Given the description of an element on the screen output the (x, y) to click on. 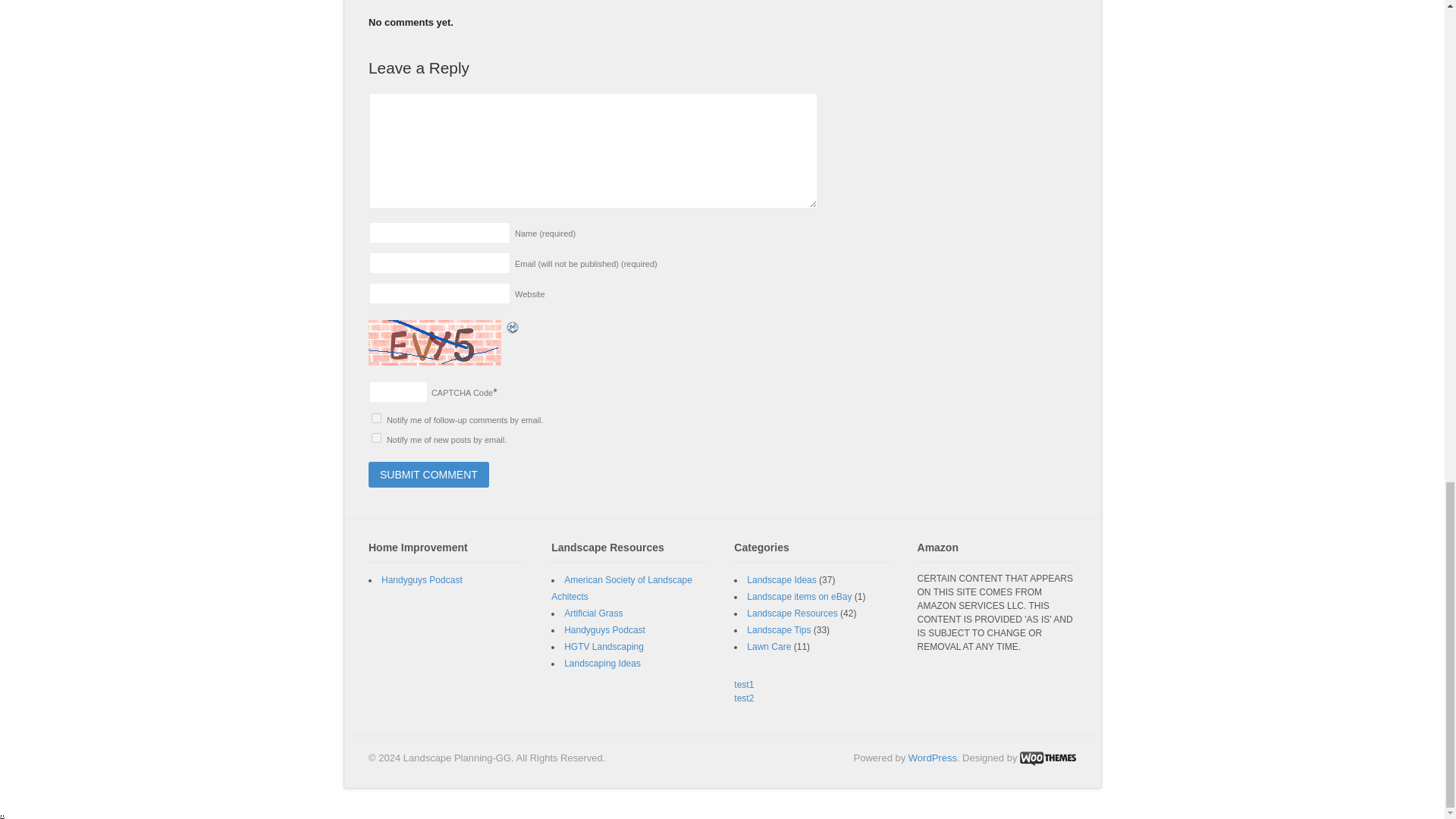
Submit Comment (428, 474)
Submit Comment (428, 474)
Refresh Image (513, 326)
subscribe (376, 438)
CAPTCHA Image (436, 342)
subscribe (376, 418)
